Given the description of an element on the screen output the (x, y) to click on. 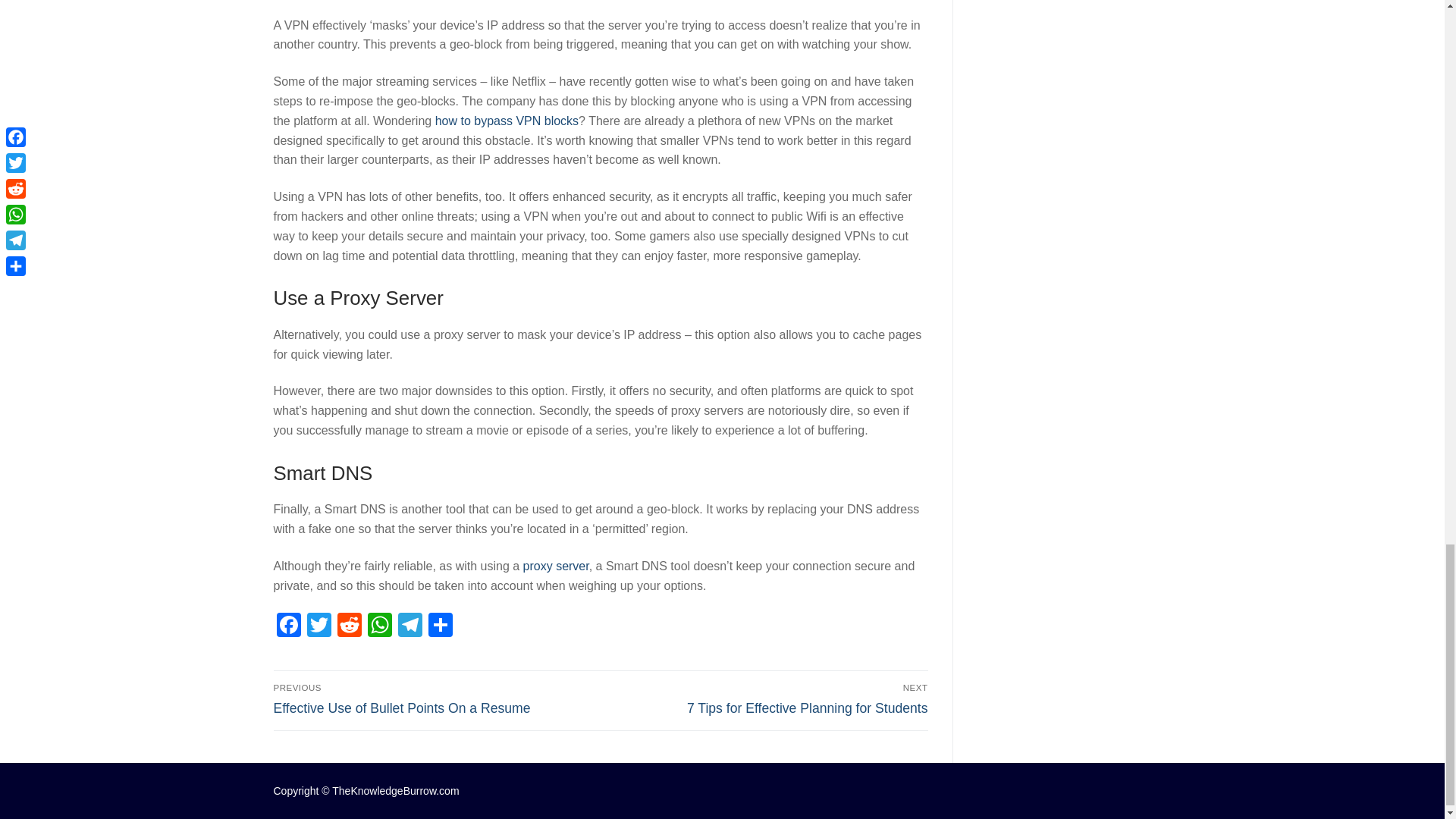
Share (439, 626)
Twitter (317, 626)
WhatsApp (379, 626)
Telegram (409, 626)
proxy server (555, 565)
WhatsApp (379, 626)
Reddit (348, 626)
Facebook (287, 626)
Twitter (767, 698)
